Given the description of an element on the screen output the (x, y) to click on. 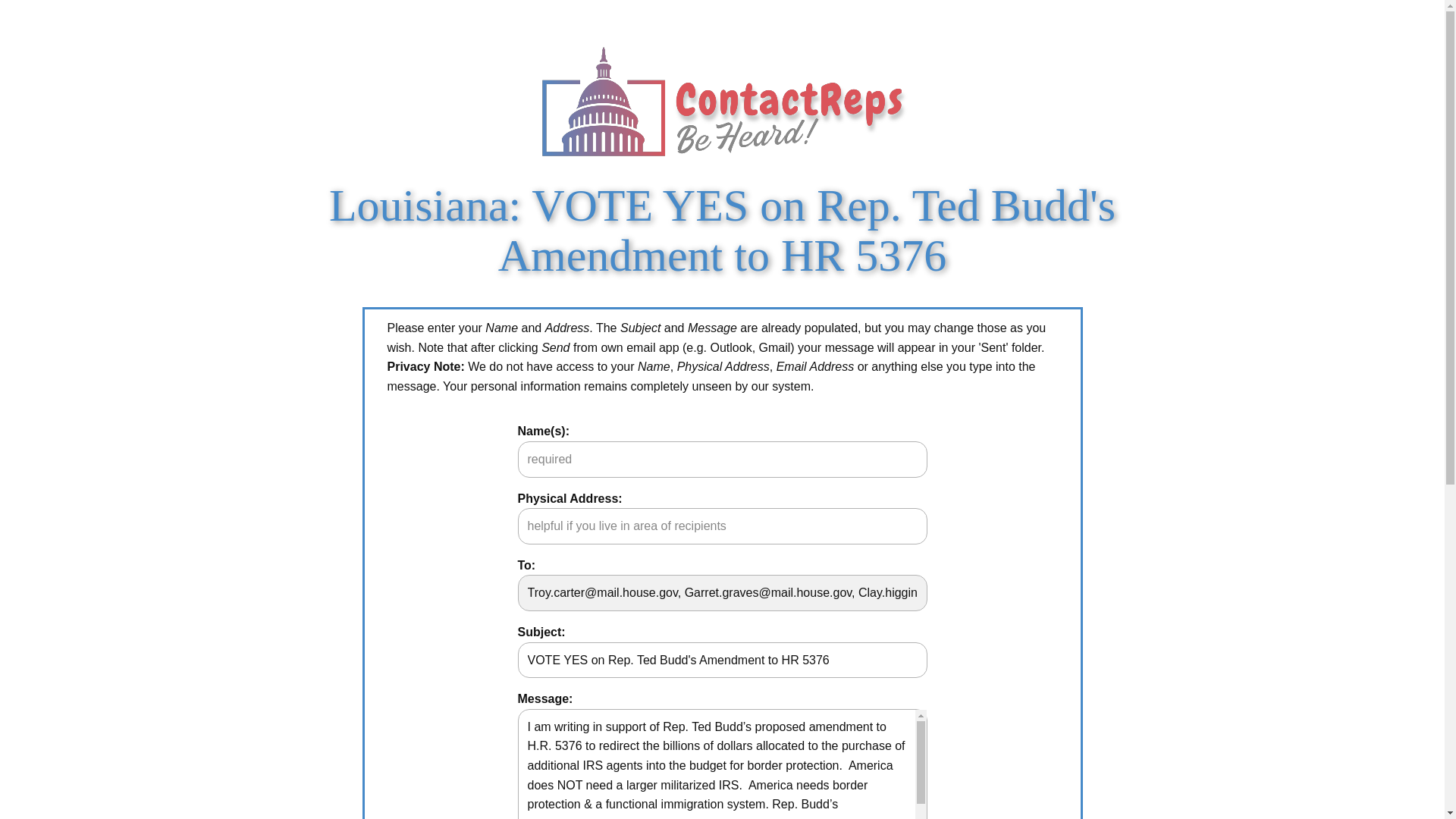
VOTE YES on Rep. Ted Budd's Amendment to HR 5376 (721, 660)
